Given the description of an element on the screen output the (x, y) to click on. 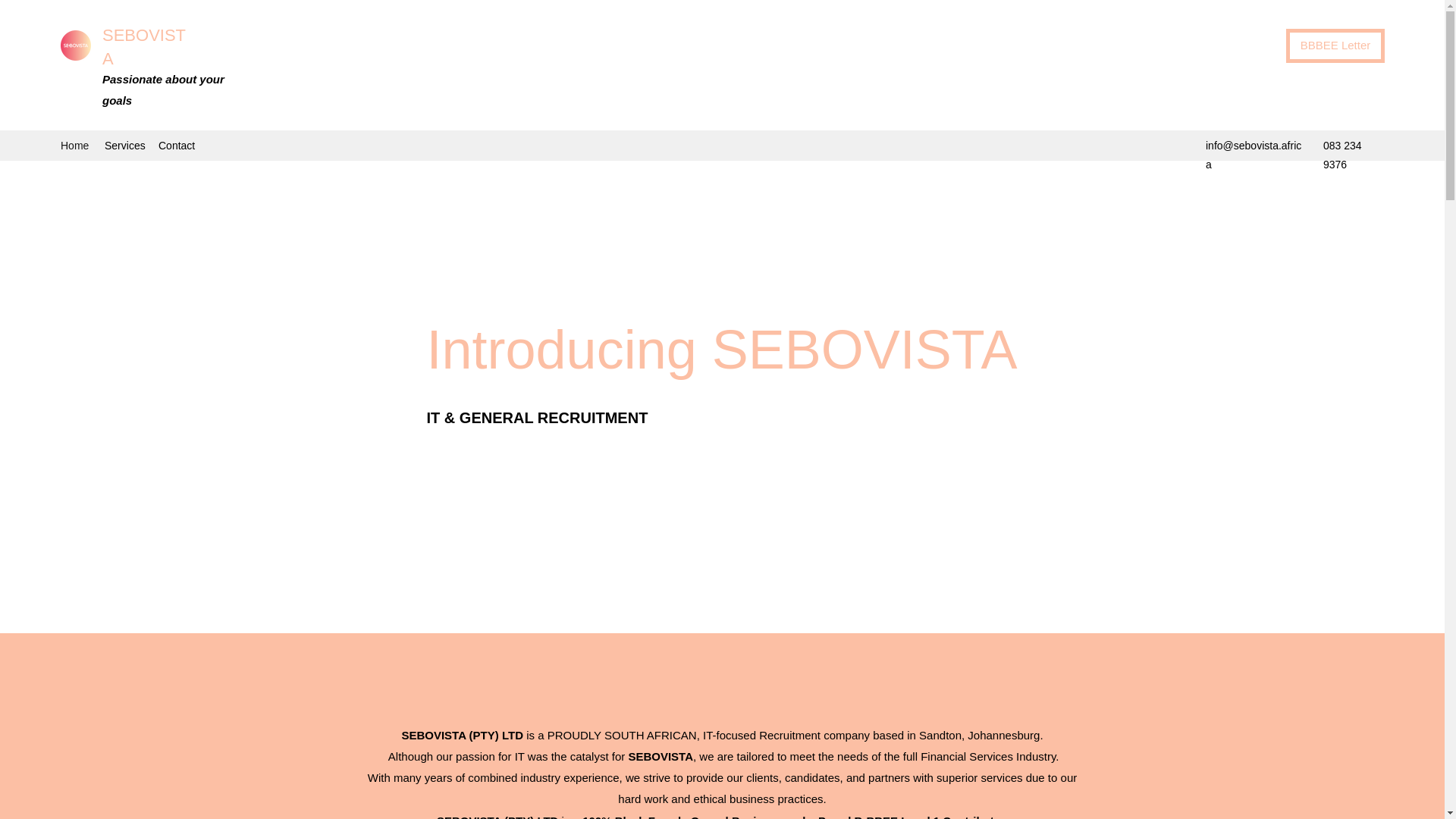
Services (124, 145)
SEBOVISTA (143, 46)
Home (74, 145)
Contact (177, 145)
BBBEE Letter (1334, 45)
